Given the description of an element on the screen output the (x, y) to click on. 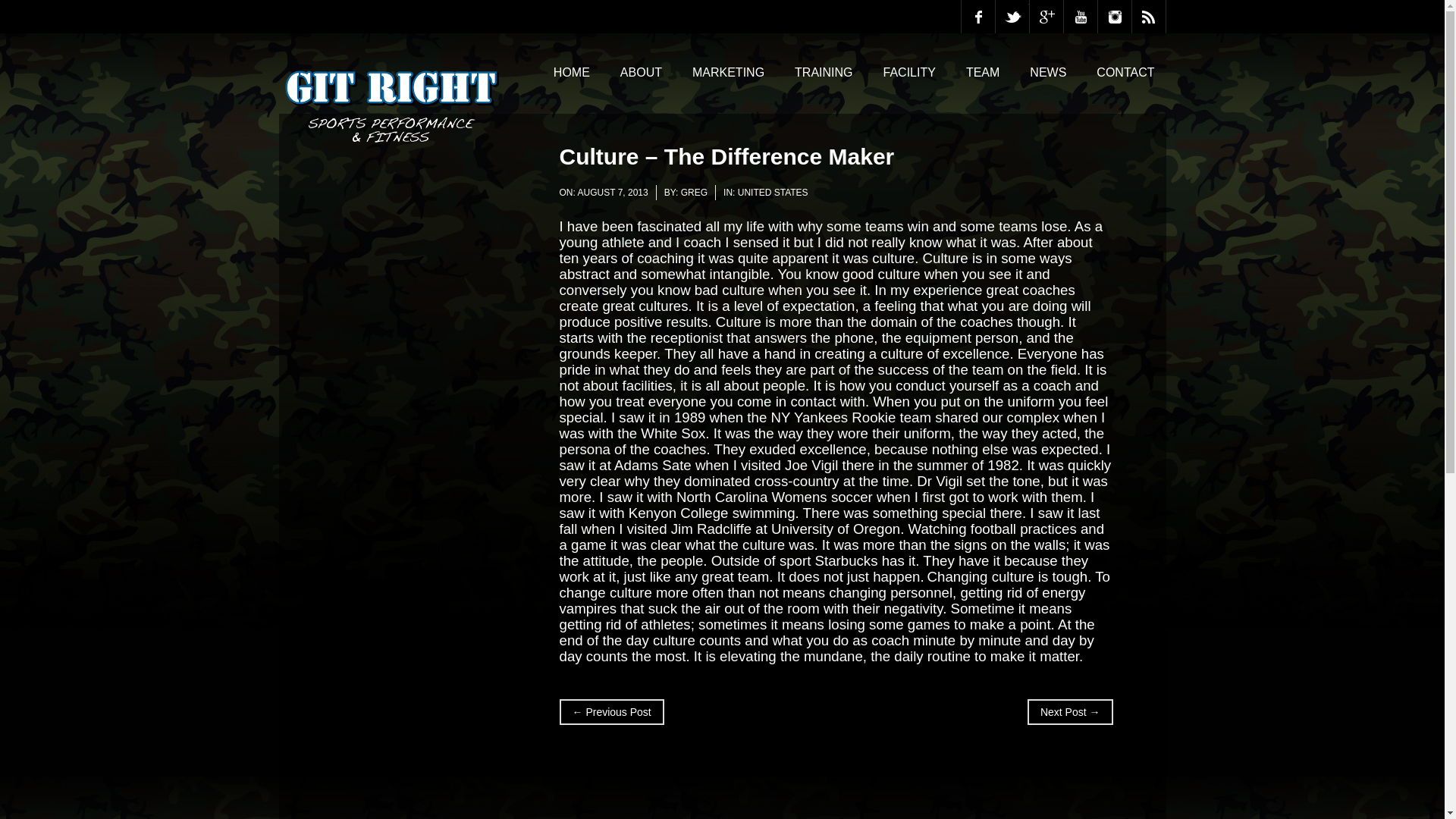
NEWS (1047, 72)
ABOUT (640, 72)
UNITED STATES (773, 192)
FACILITY (909, 72)
HOME (571, 72)
Youtube (1079, 16)
TEAM (982, 72)
Twitter (1010, 16)
MARKETING (728, 72)
Instagram (1114, 16)
CONTACT (1125, 72)
RSS (1147, 16)
Google Plus (1045, 16)
TRAINING (823, 72)
Facebook (977, 16)
